Given the description of an element on the screen output the (x, y) to click on. 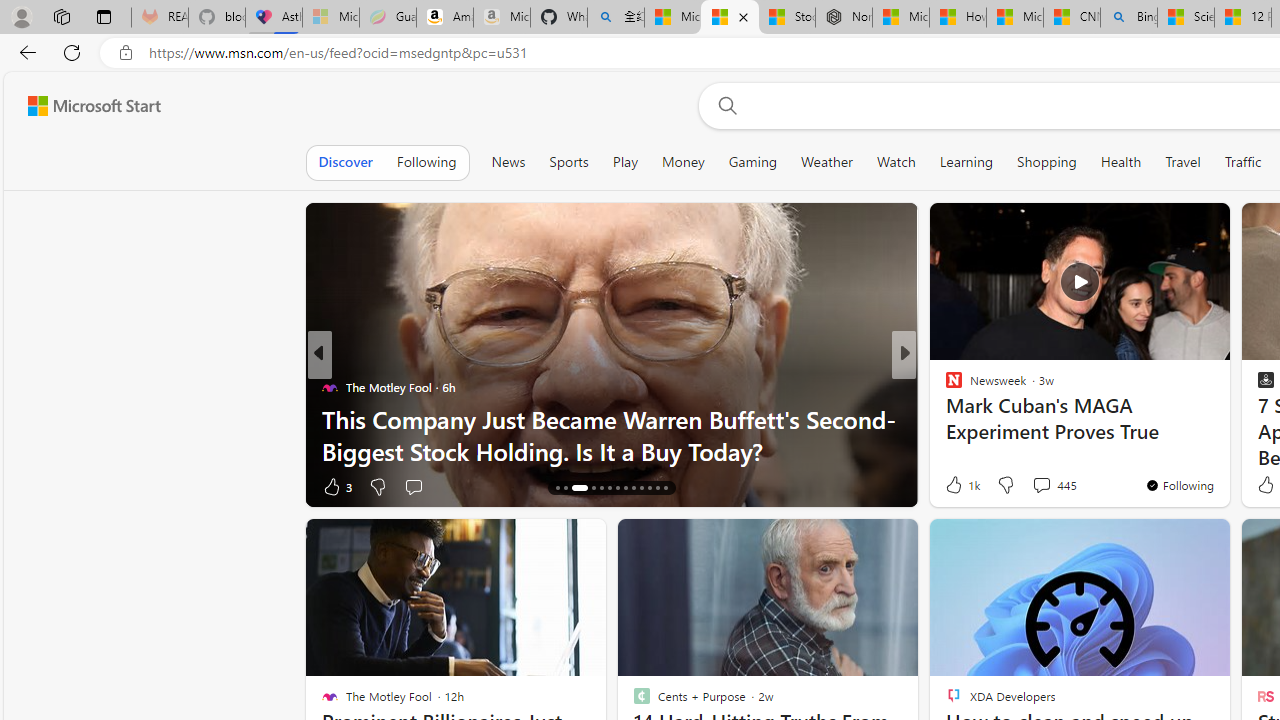
Irish Star (944, 386)
AutomationID: tab-16 (579, 487)
AutomationID: tab-19 (609, 487)
Newsweek (944, 386)
View comments 40 Comment (1051, 486)
86 Like (956, 486)
AutomationID: tab-22 (632, 487)
View comments 13 Comment (1051, 486)
14 Like (956, 486)
